Given the description of an element on the screen output the (x, y) to click on. 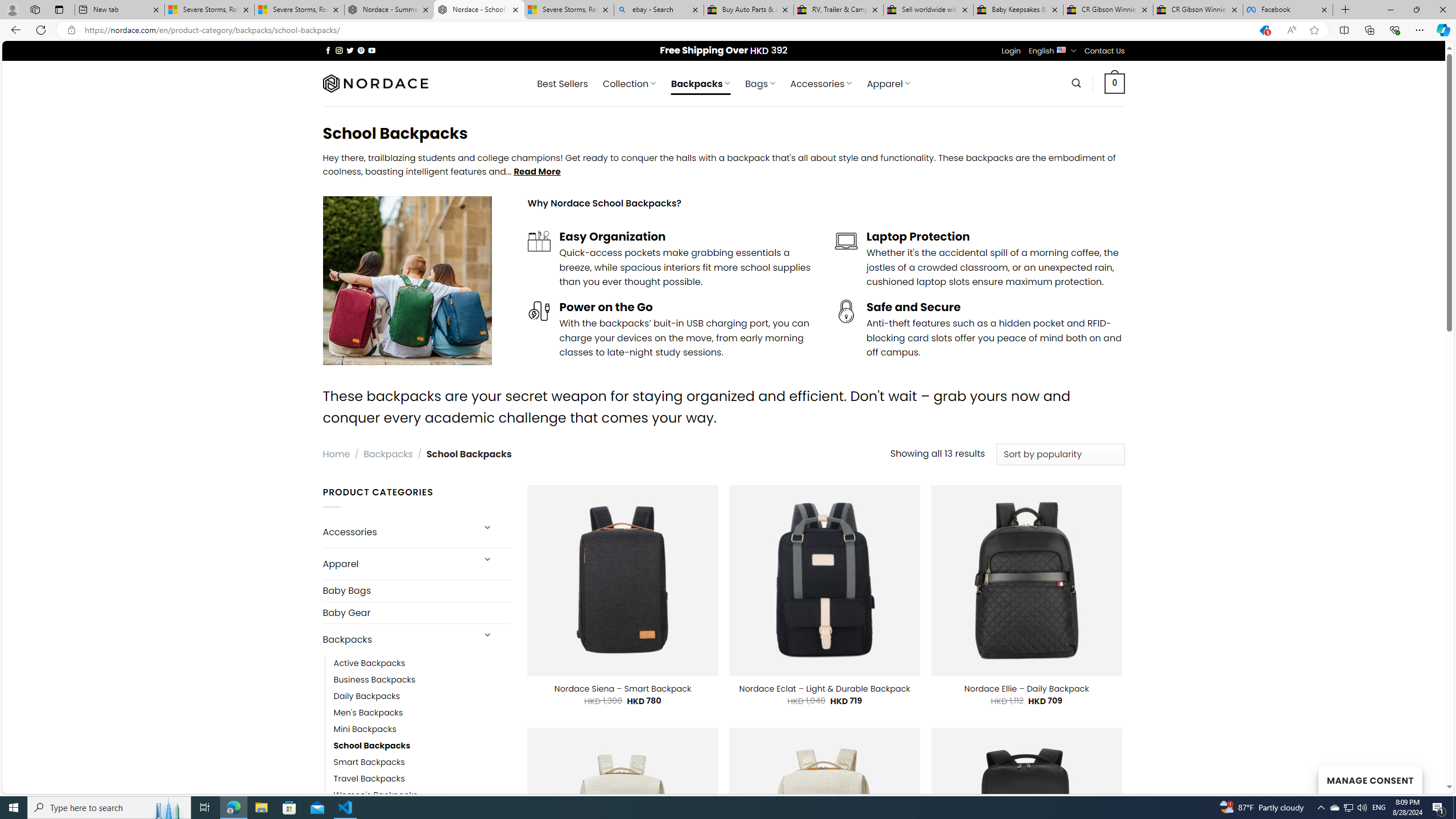
This site has coupons! Shopping in Microsoft Edge, 5 (1263, 29)
Baby Gear (416, 612)
  0   (1115, 83)
Baby Bags (416, 590)
Apparel (397, 563)
Mini Backpacks (364, 729)
  Best Sellers (562, 83)
Follow on Instagram (338, 49)
